Given the description of an element on the screen output the (x, y) to click on. 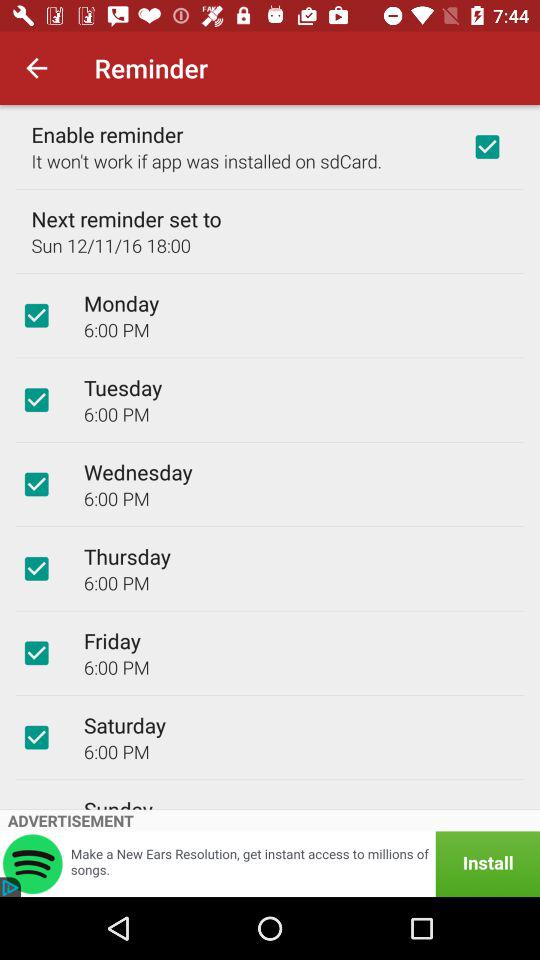
turn on icon to the right of the enable reminder (487, 146)
